Given the description of an element on the screen output the (x, y) to click on. 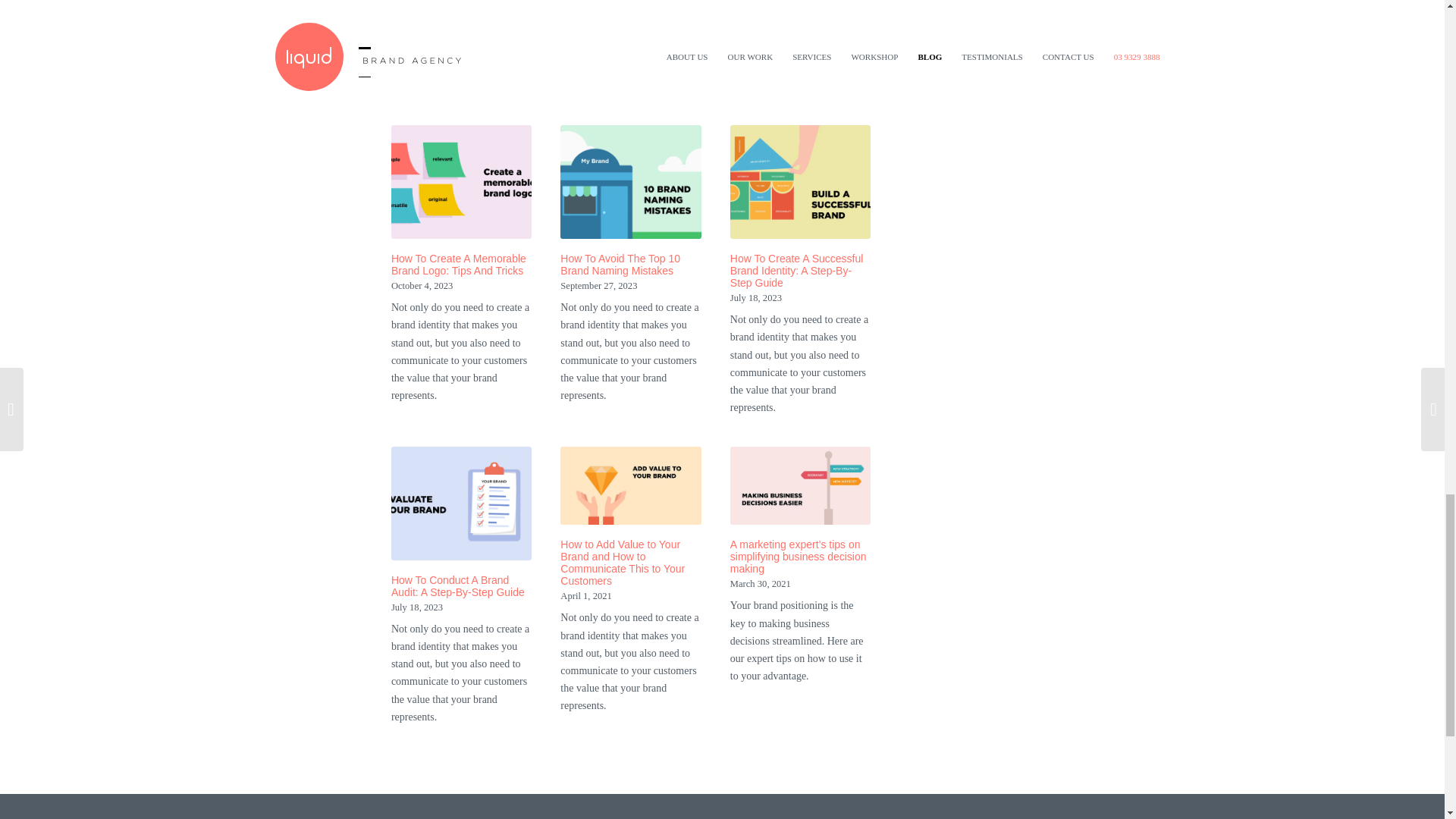
How To Conduct A Brand Audit: A Step-By-Step Guide (457, 586)
How To Avoid The Top 10 Brand Naming Mistakes (619, 264)
Post Comment (442, 7)
How To Avoid The Top 10 Brand Naming Mistakes (619, 264)
How To Create A Memorable Brand Logo: Tips And Tricks (458, 264)
How To Conduct A Brand Audit: A Step-By-Step Guide (461, 503)
Post Comment (442, 7)
How To Avoid The Top 10 Brand Naming Mistakes (630, 182)
How To Create A Memorable Brand Logo: Tips And Tricks (461, 182)
How To Create A Memorable Brand Logo: Tips And Tricks (458, 264)
